Given the description of an element on the screen output the (x, y) to click on. 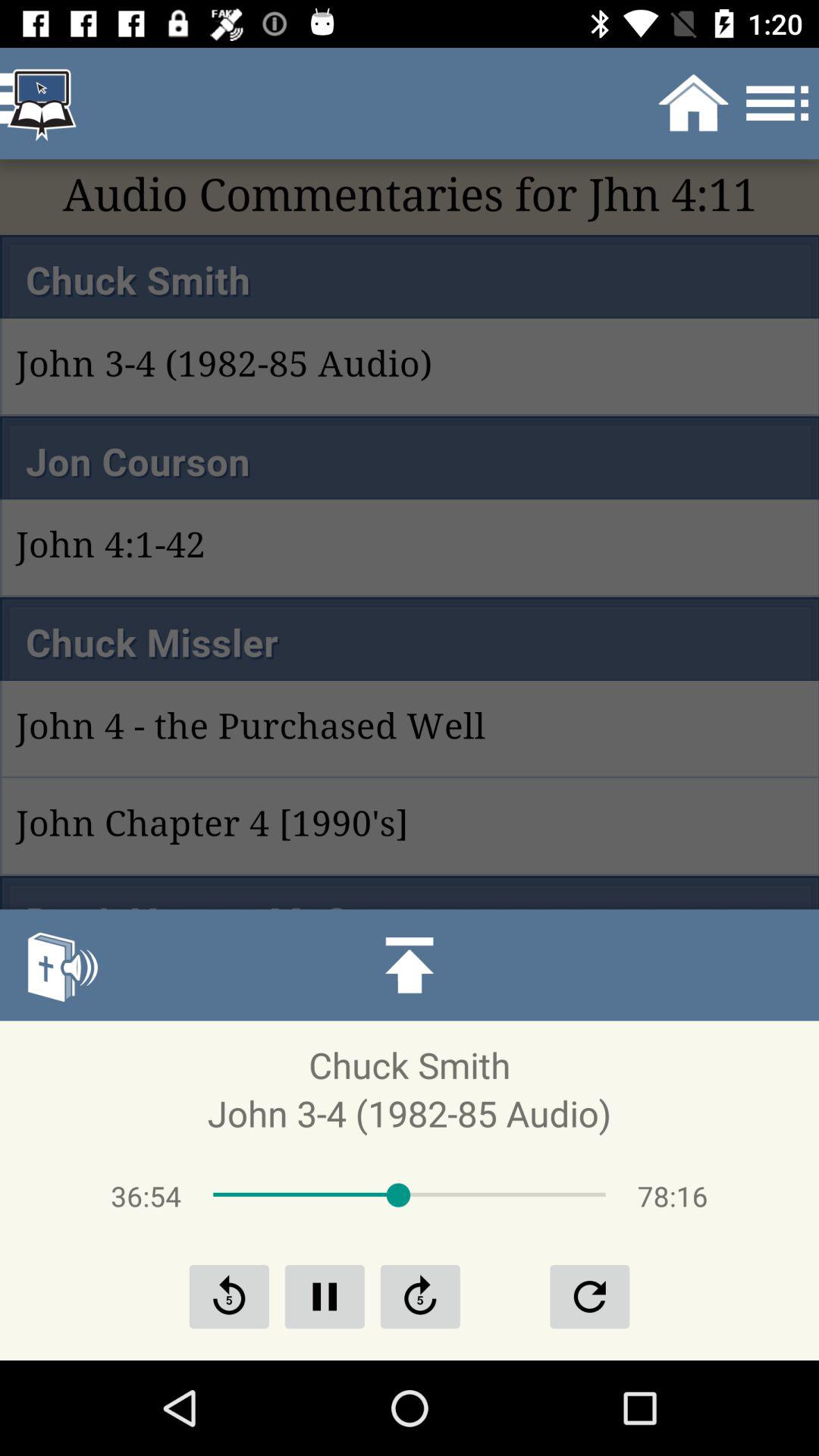
pause the audio (324, 1296)
